Given the description of an element on the screen output the (x, y) to click on. 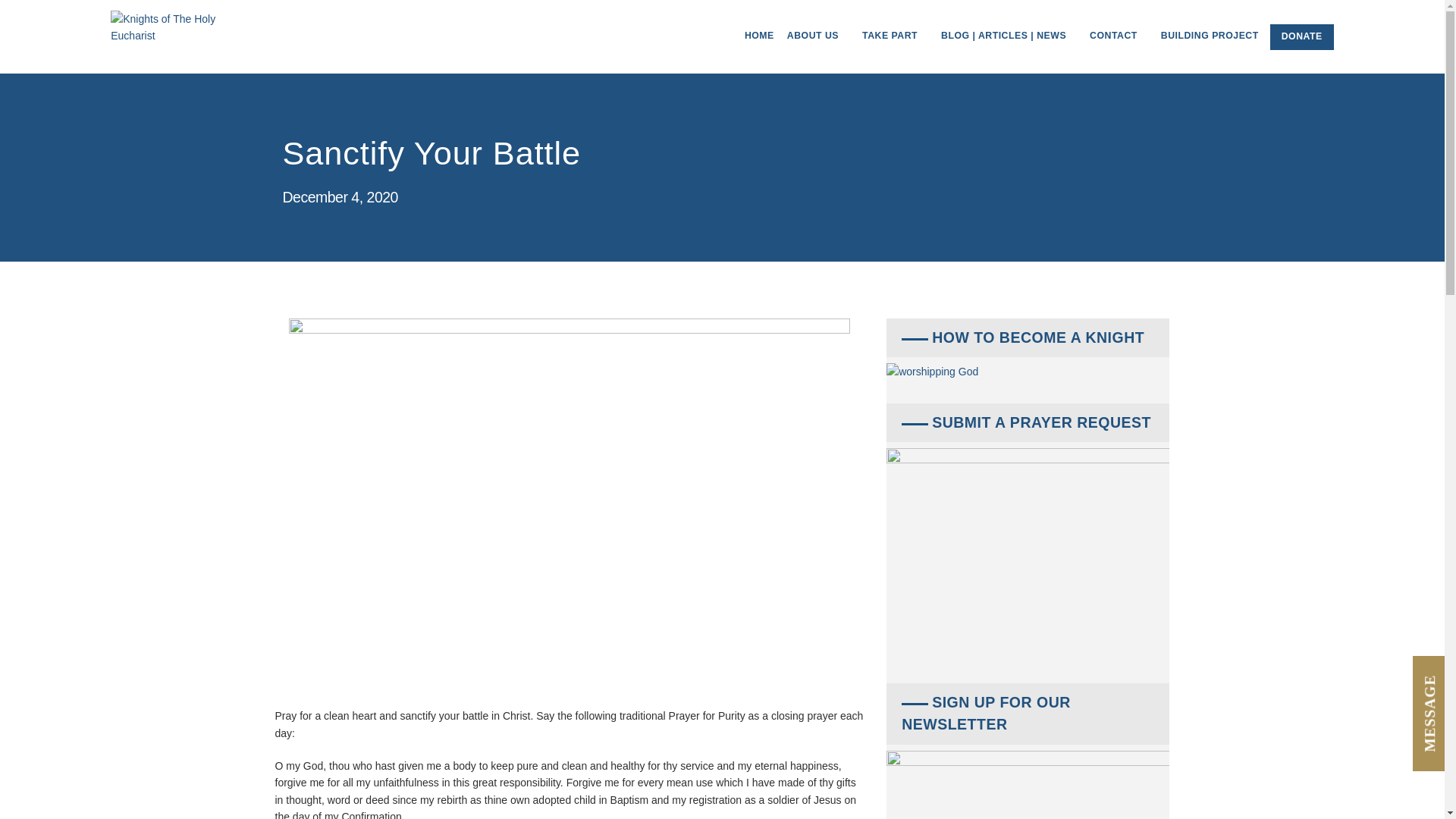
BUILDING PROJECT (1209, 45)
CONTACT (1118, 45)
TAKE PART (895, 45)
ABOUT US (818, 45)
DONATE (1301, 36)
